Given the description of an element on the screen output the (x, y) to click on. 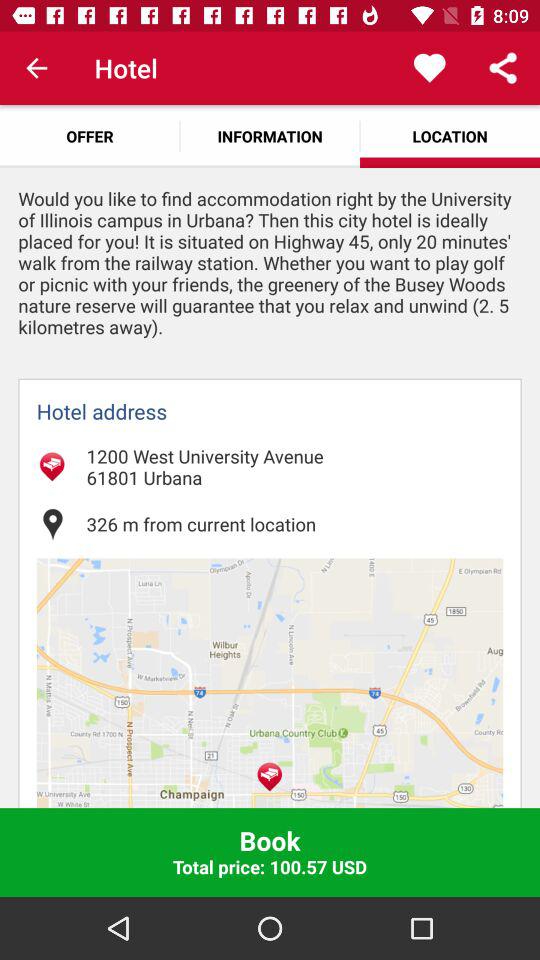
click the icon above offer app (36, 68)
